Given the description of an element on the screen output the (x, y) to click on. 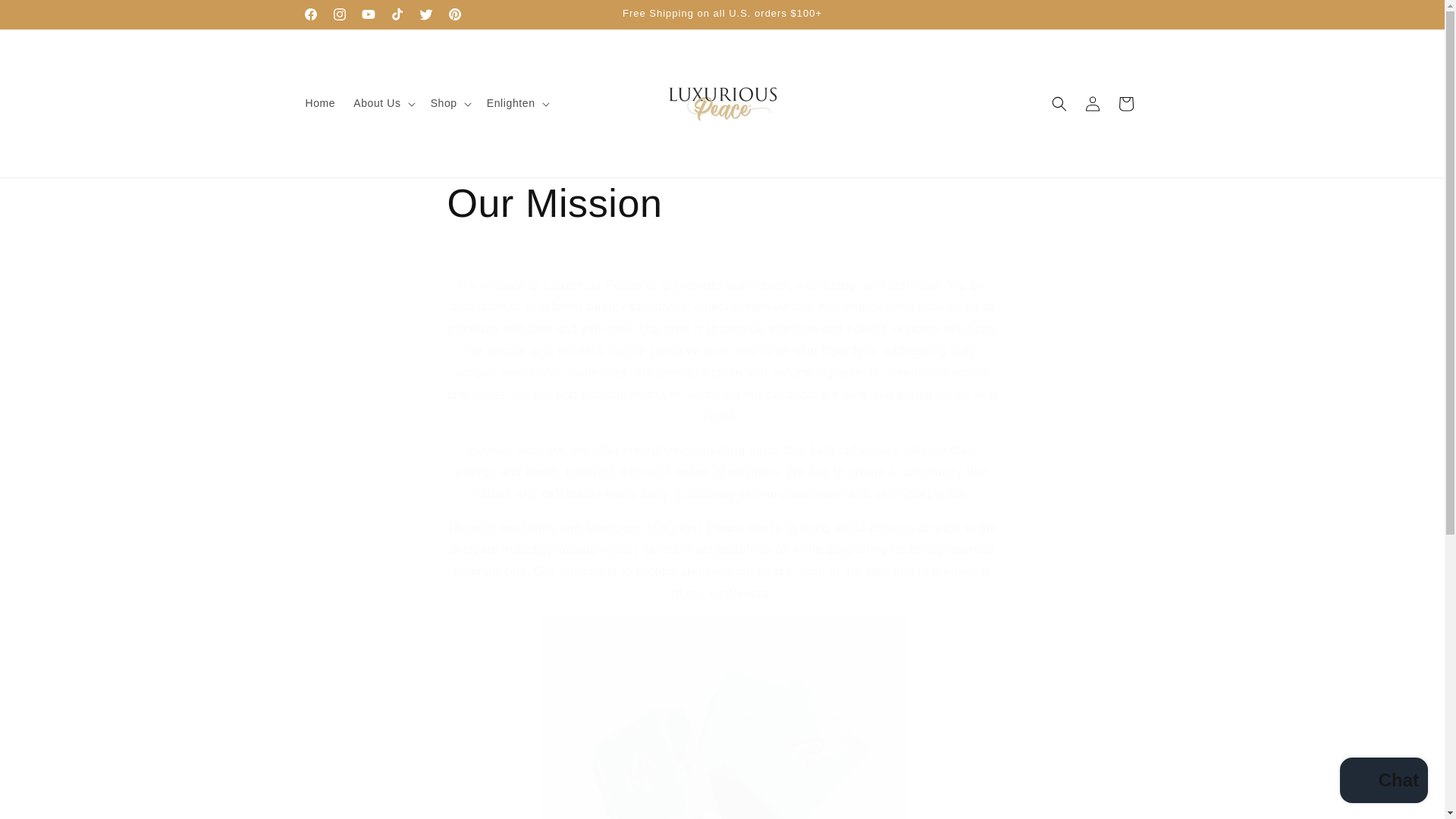
Our Mission (721, 204)
Instagram (338, 14)
Shopify online store chat (1383, 781)
Facebook (309, 14)
Home (319, 102)
Skip to content (45, 17)
Twitter (424, 14)
Pinterest (453, 14)
TikTok (395, 14)
